Given the description of an element on the screen output the (x, y) to click on. 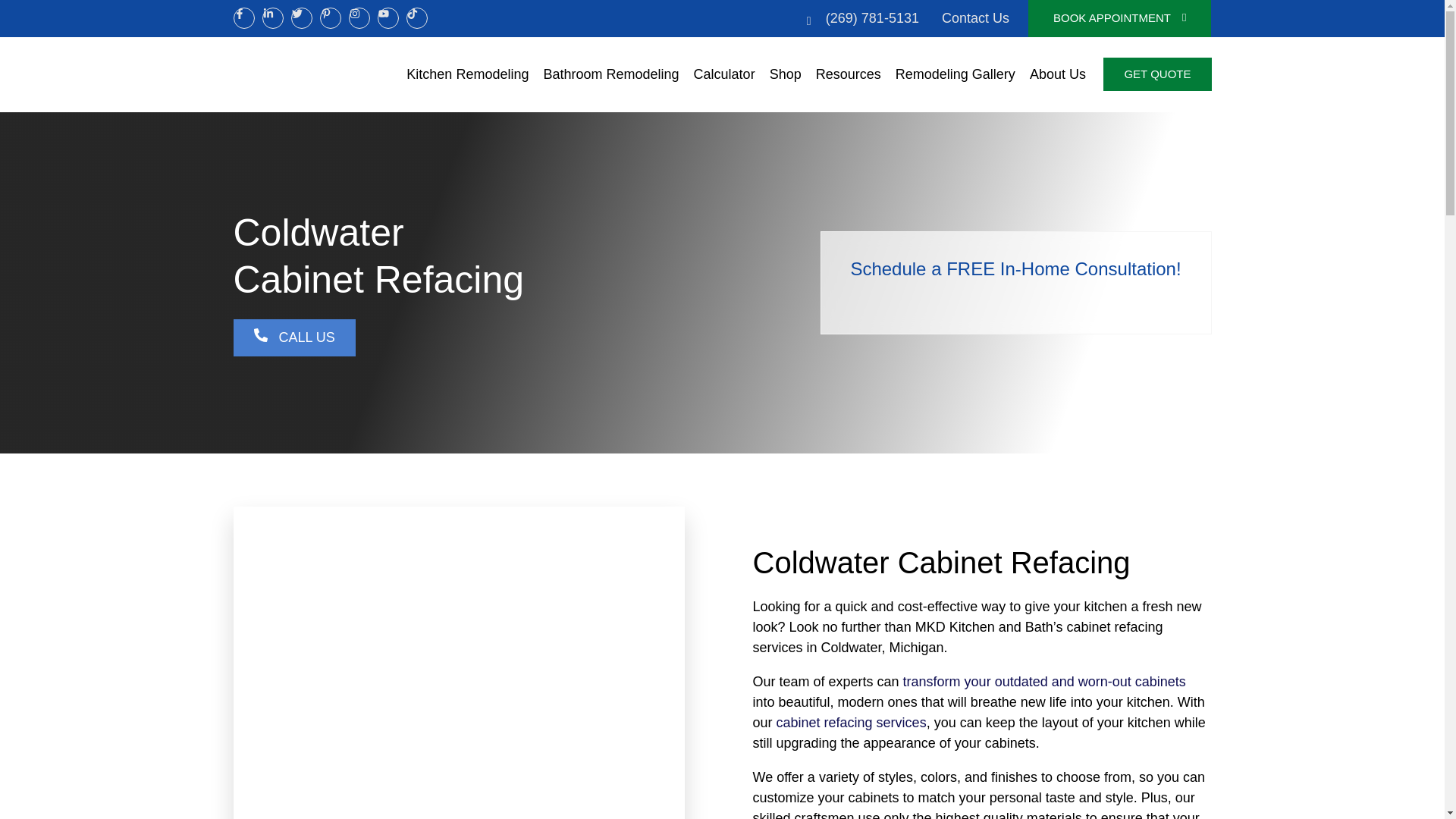
Calculator (724, 74)
Bathroom Remodeling (610, 74)
BOOK APPOINTMENT (1119, 18)
Contact Us (975, 18)
Shop (785, 74)
Kitchen Remodeling (467, 74)
